Given the description of an element on the screen output the (x, y) to click on. 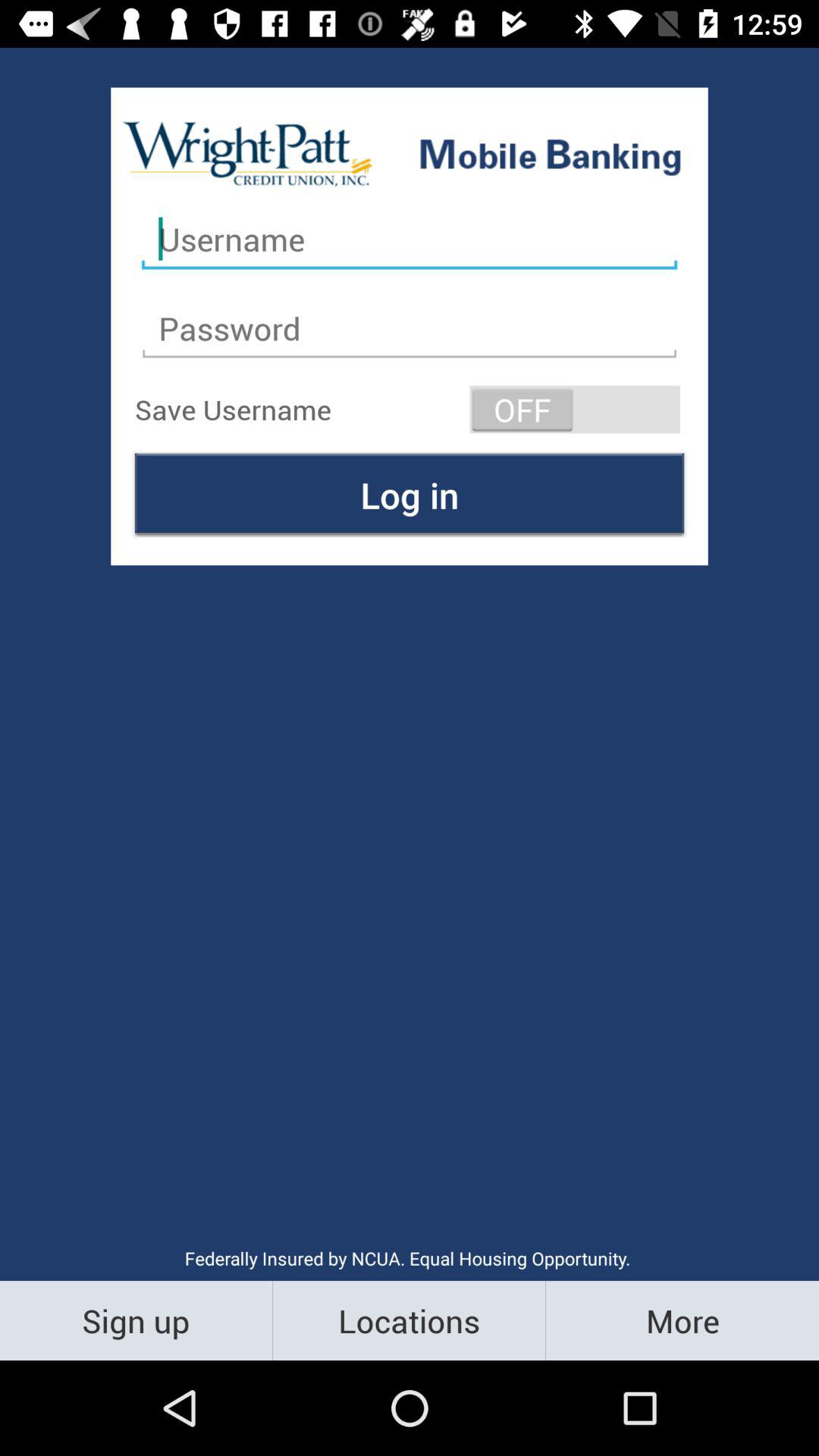
click item at the top right corner (574, 409)
